Given the description of an element on the screen output the (x, y) to click on. 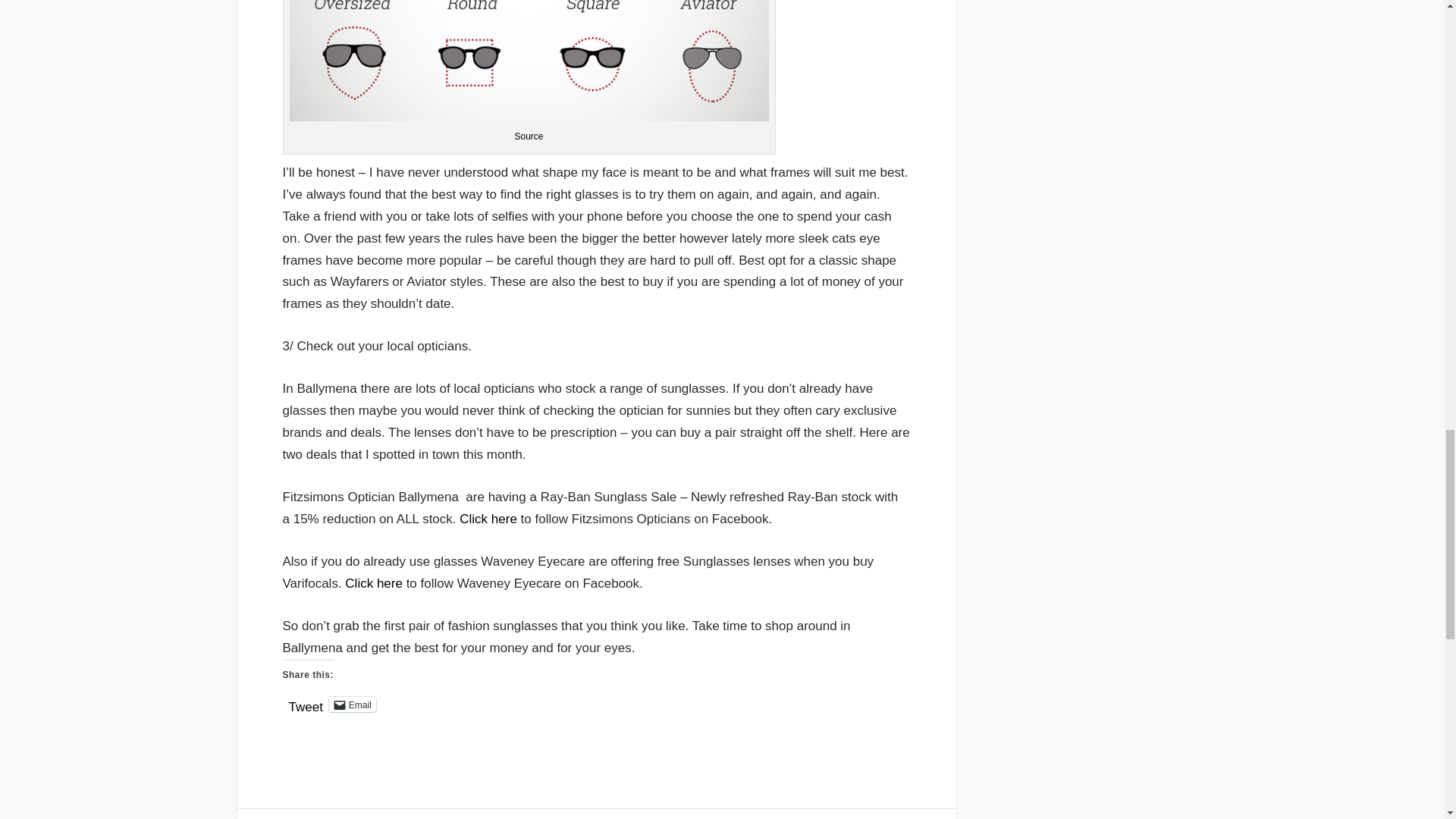
Email (352, 703)
Tweet (304, 703)
Click to email a link to a friend (352, 703)
Click here (374, 583)
Source (528, 136)
Click here (488, 518)
